Given the description of an element on the screen output the (x, y) to click on. 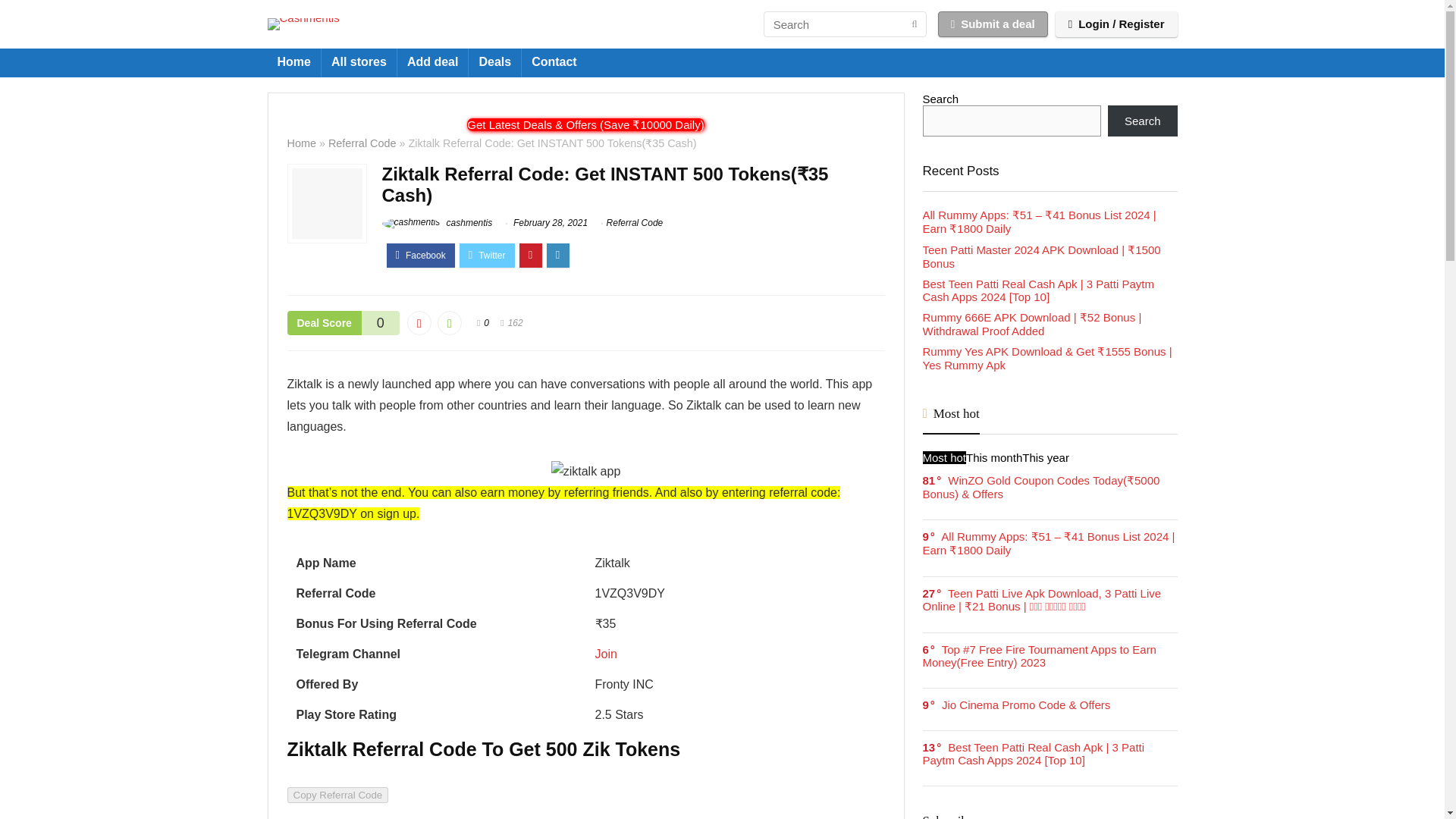
Vote down (418, 322)
Contact (553, 62)
All stores (358, 62)
Copy Referral Code (337, 795)
Join (604, 653)
Vote up (449, 322)
Home (293, 62)
Referral Code (635, 222)
View all posts in Referral Code (635, 222)
Add deal (432, 62)
Deals (494, 62)
Referral Code (362, 143)
Search (1142, 120)
Home (300, 143)
Submit a deal (992, 23)
